Given the description of an element on the screen output the (x, y) to click on. 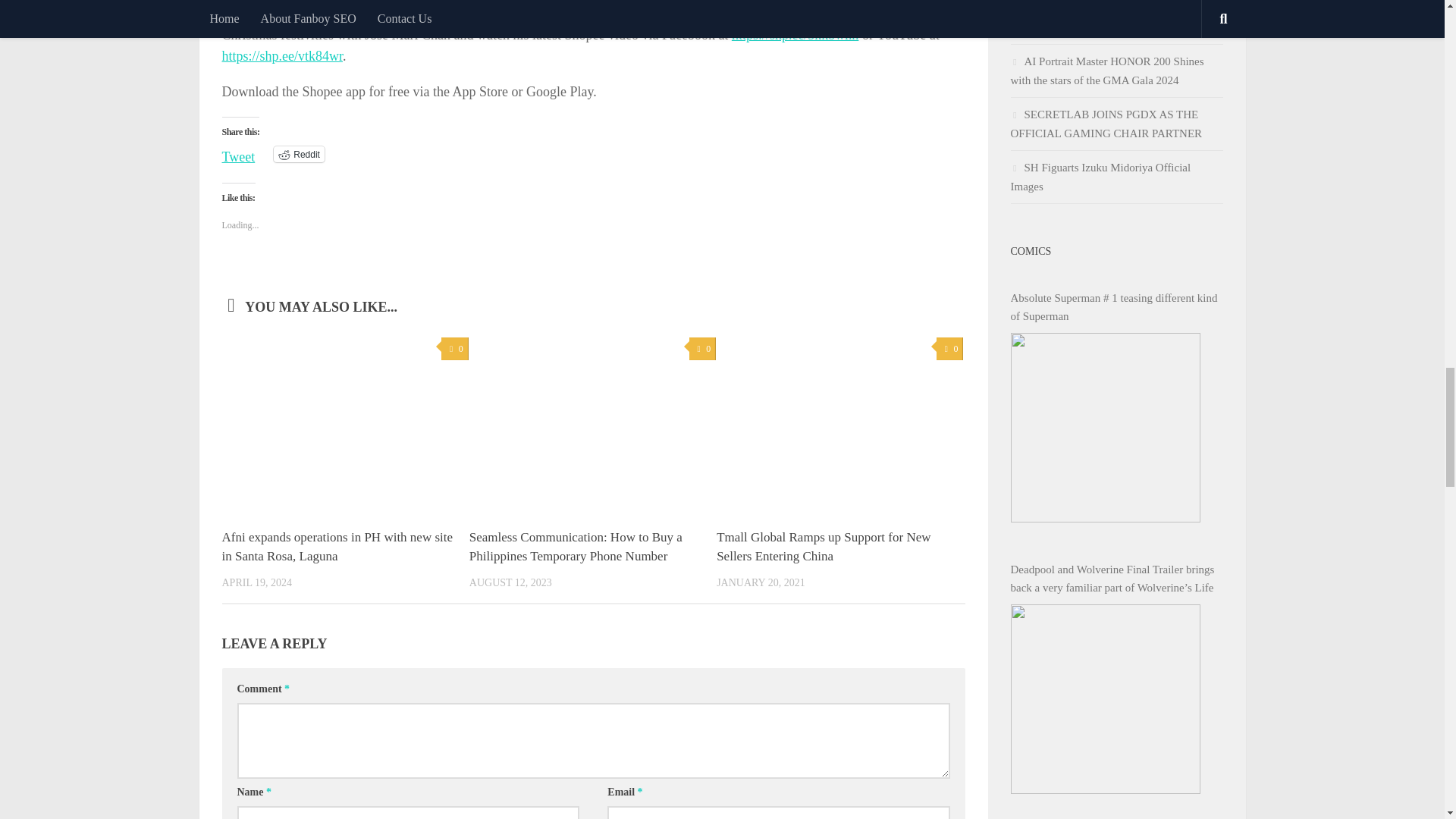
Reddit (298, 154)
0 (454, 349)
Click to share on Reddit (298, 154)
Tweet (237, 152)
